Given the description of an element on the screen output the (x, y) to click on. 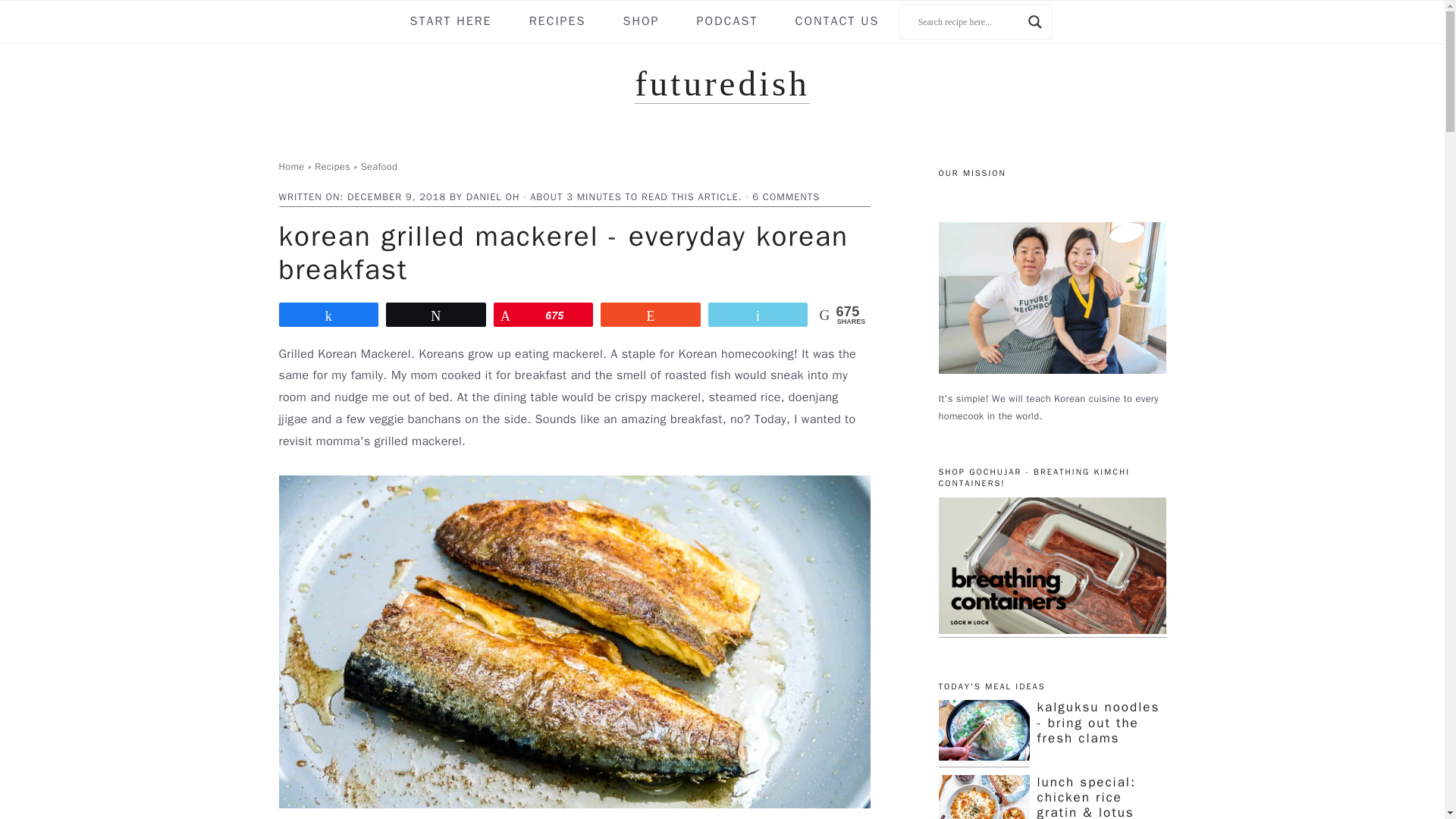
Seafood (379, 166)
Recipes (332, 166)
SHOP (640, 20)
6 COMMENTS (785, 196)
DANIEL OH (492, 196)
RECIPES (557, 20)
START HERE (450, 20)
PODCAST (727, 20)
CONTACT US (837, 20)
